Given the description of an element on the screen output the (x, y) to click on. 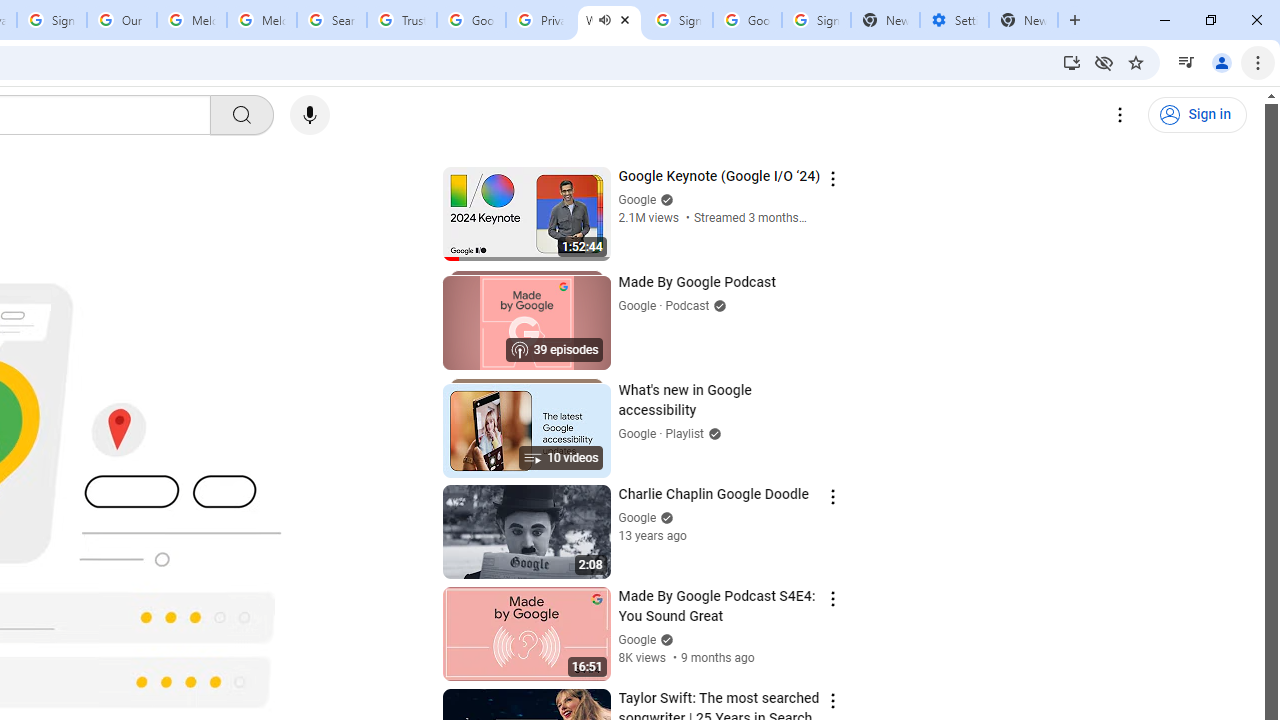
Search our Doodle Library Collection - Google Doodles (332, 20)
Sign in - Google Accounts (51, 20)
New Tab (1023, 20)
Sign in - Google Accounts (677, 20)
